Given the description of an element on the screen output the (x, y) to click on. 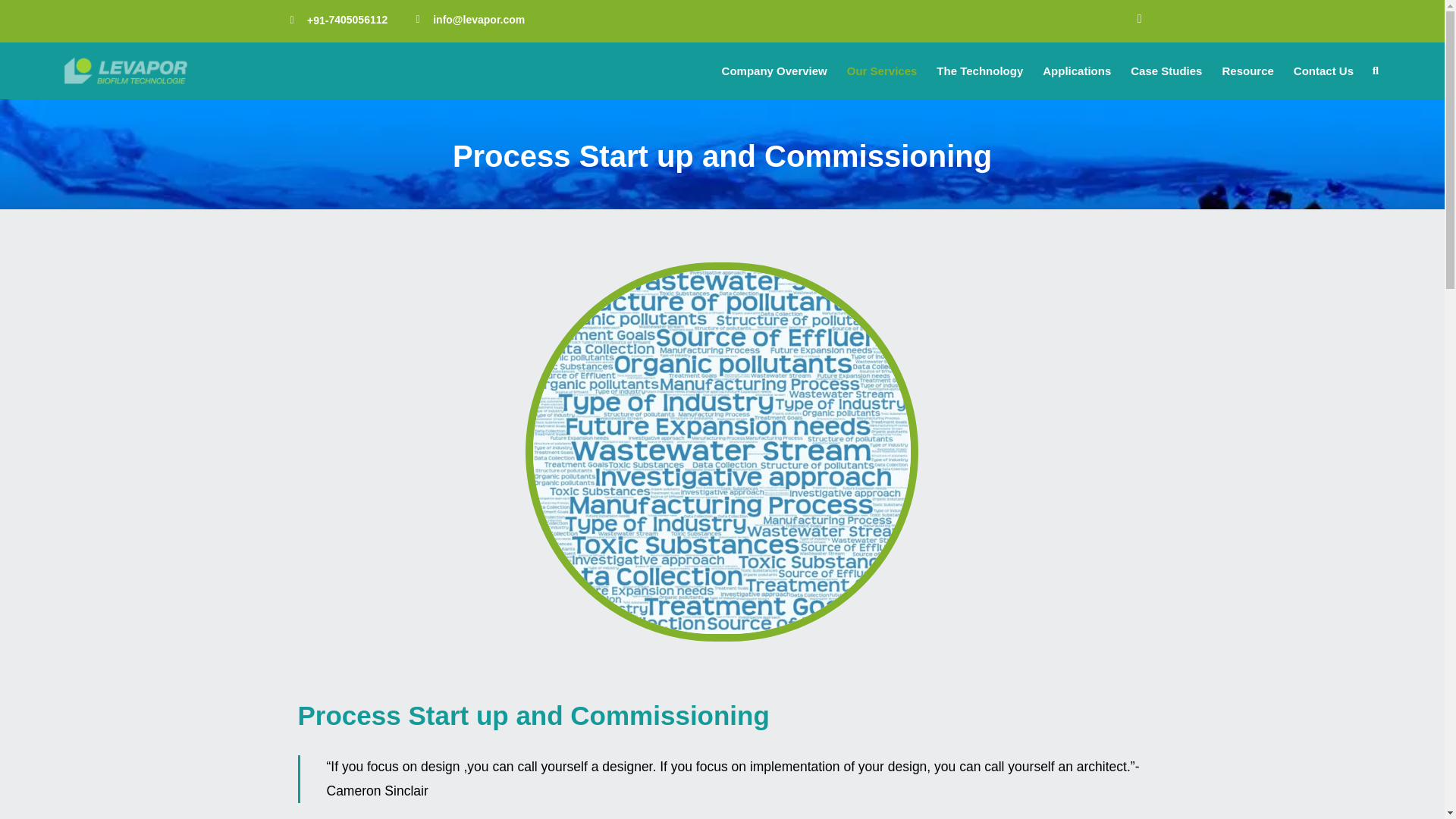
Our Services (886, 70)
Company Overview (778, 70)
Applications (1080, 70)
The Technology (983, 70)
Case Studies (1169, 70)
